Given the description of an element on the screen output the (x, y) to click on. 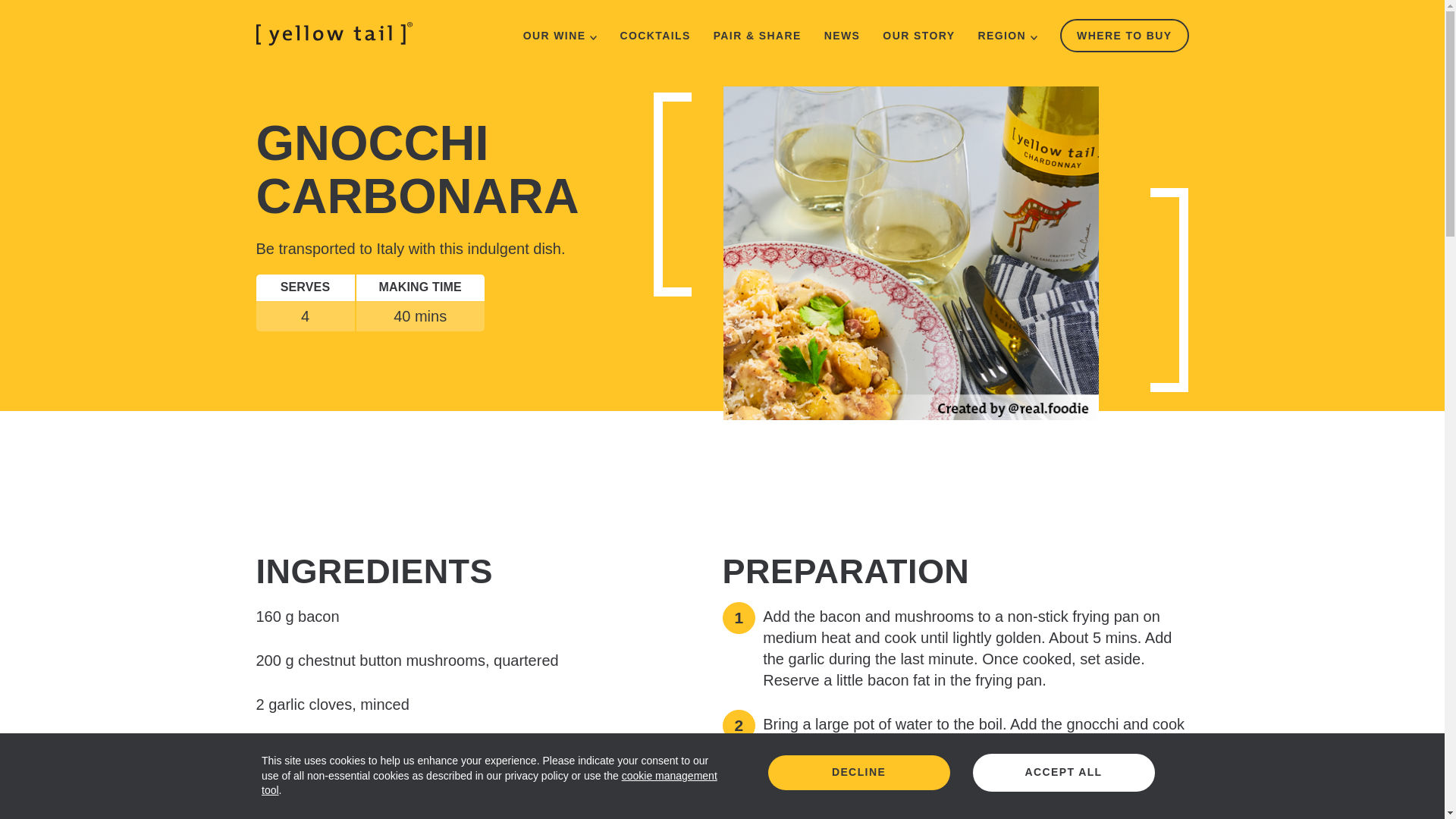
OUR STORY (918, 35)
COCKTAILS (655, 35)
ACCEPT ALL (1063, 772)
OUR WINE (559, 35)
cookie management tool (489, 782)
NEWS (842, 35)
REGION (1006, 35)
WHERE TO BUY (1123, 35)
DECLINE (858, 772)
